Given the description of an element on the screen output the (x, y) to click on. 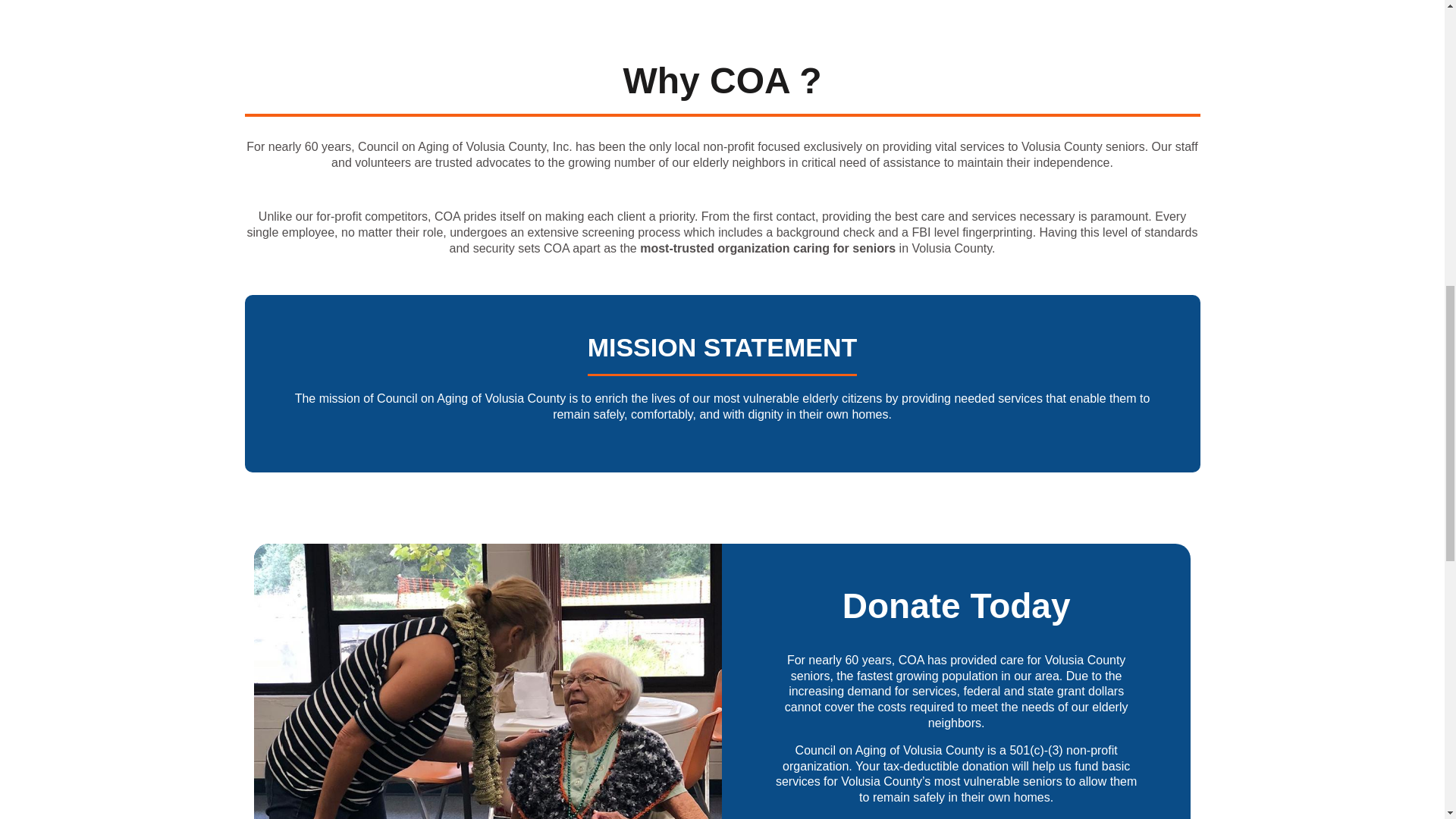
FareHarbor (1342, 64)
